Given the description of an element on the screen output the (x, y) to click on. 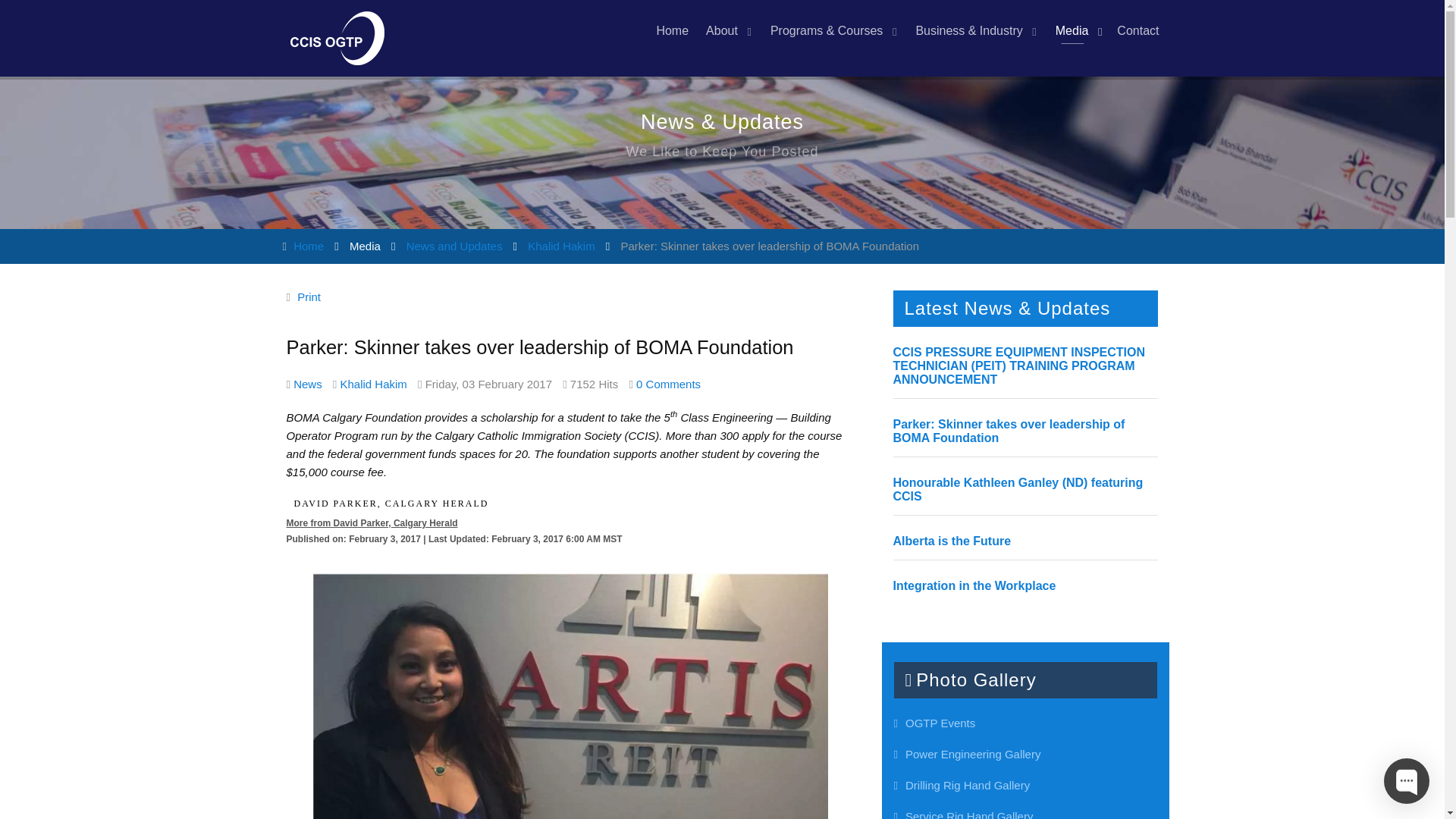
Khalid Hakim (560, 245)
0 Comments (668, 383)
Print (308, 296)
Home (308, 245)
Parker: Skinner takes over leadership of BOMA Foundation (1009, 430)
Alberta is the Future (952, 540)
News and Updates (454, 245)
About (726, 30)
Media (1077, 30)
News (307, 383)
Khalid Hakim (372, 383)
Integration in the Workplace (975, 585)
Print (308, 296)
